Given the description of an element on the screen output the (x, y) to click on. 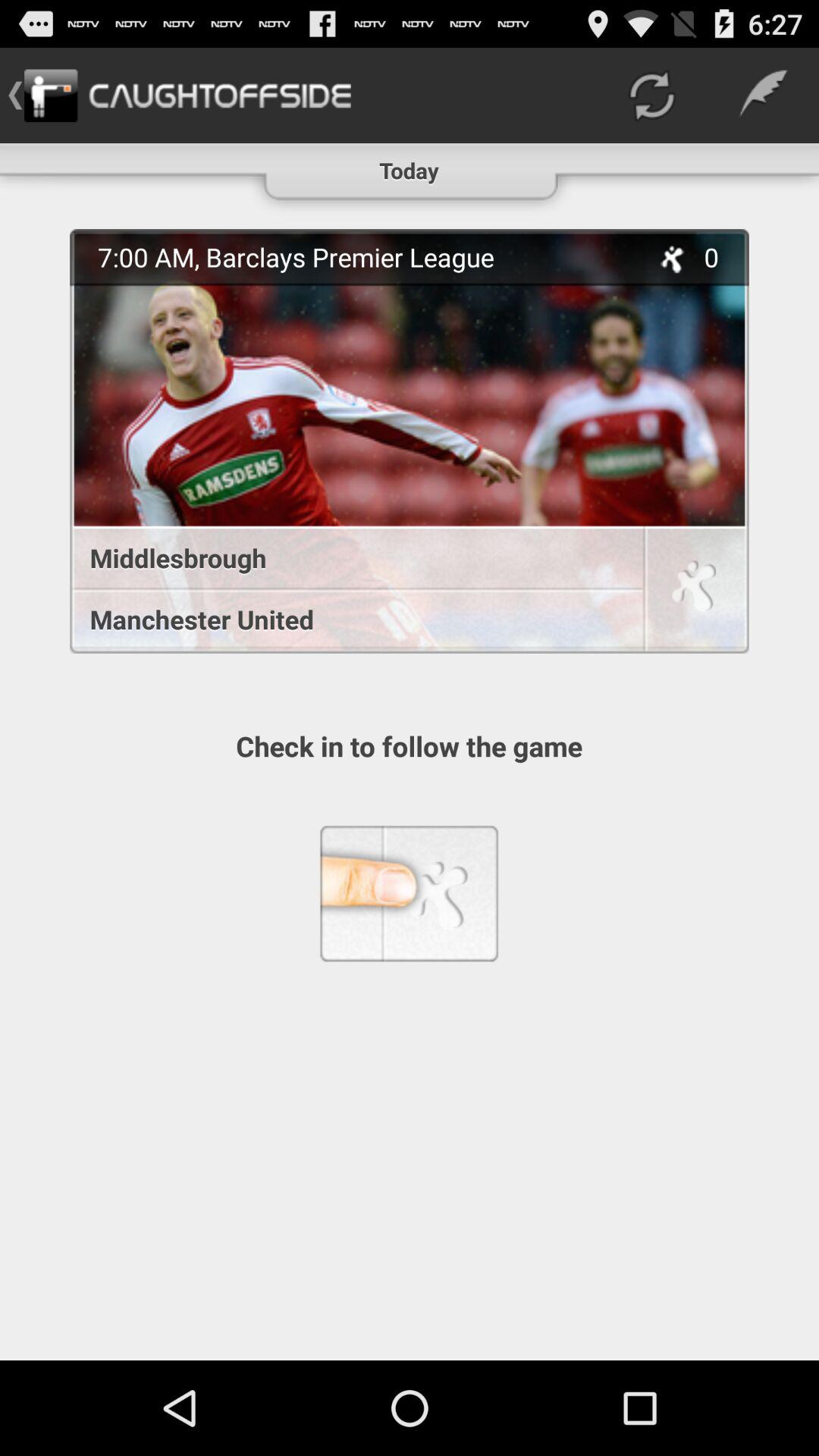
open app above manchester united item (348, 557)
